Given the description of an element on the screen output the (x, y) to click on. 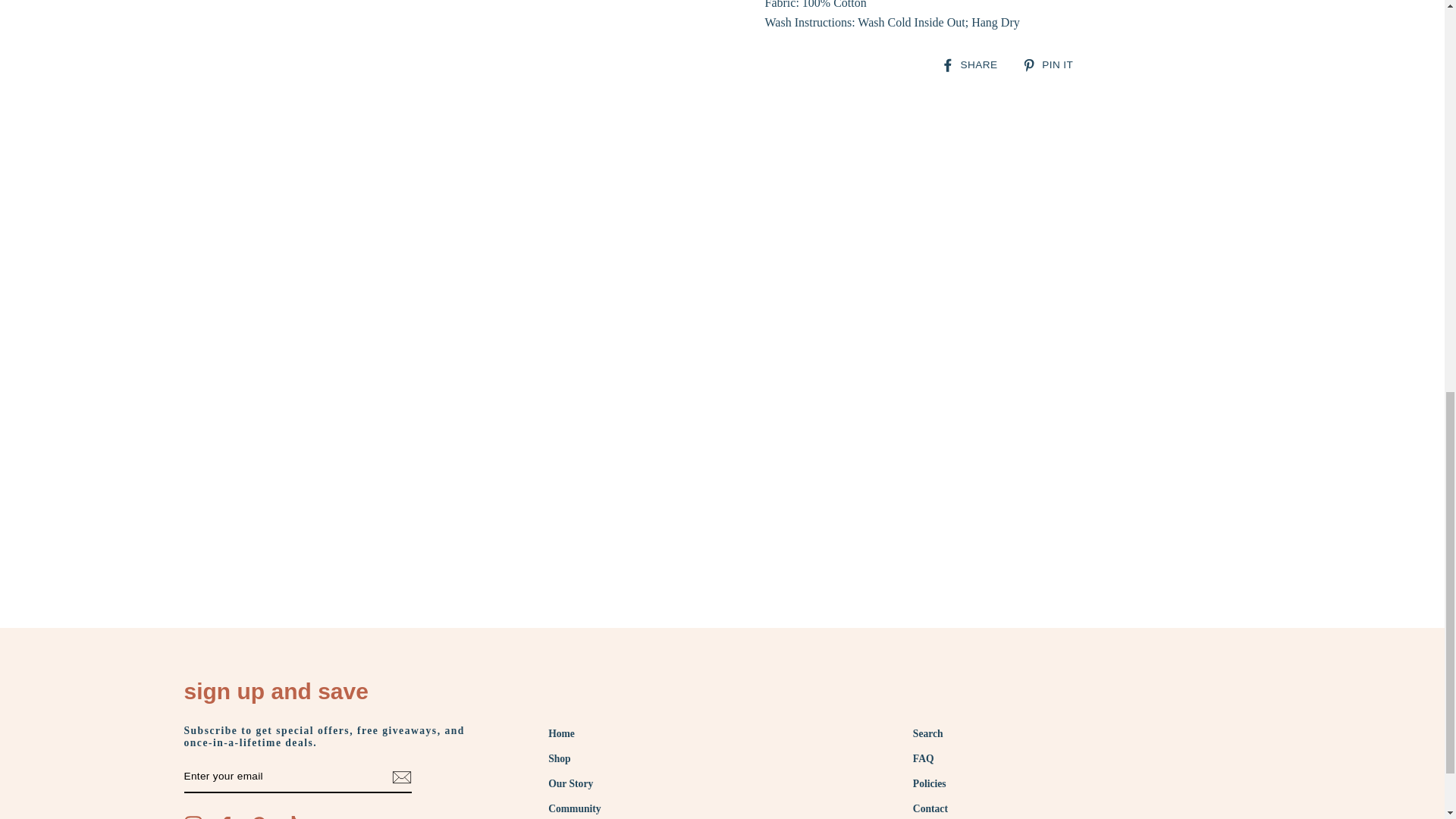
A Labor of Love on Facebook (225, 817)
A Labor of Love on Pinterest (257, 817)
Pin on Pinterest (1053, 64)
A Labor of Love on TikTok (290, 817)
Share on Facebook (974, 64)
A Labor of Love on Instagram (192, 817)
